Given the description of an element on the screen output the (x, y) to click on. 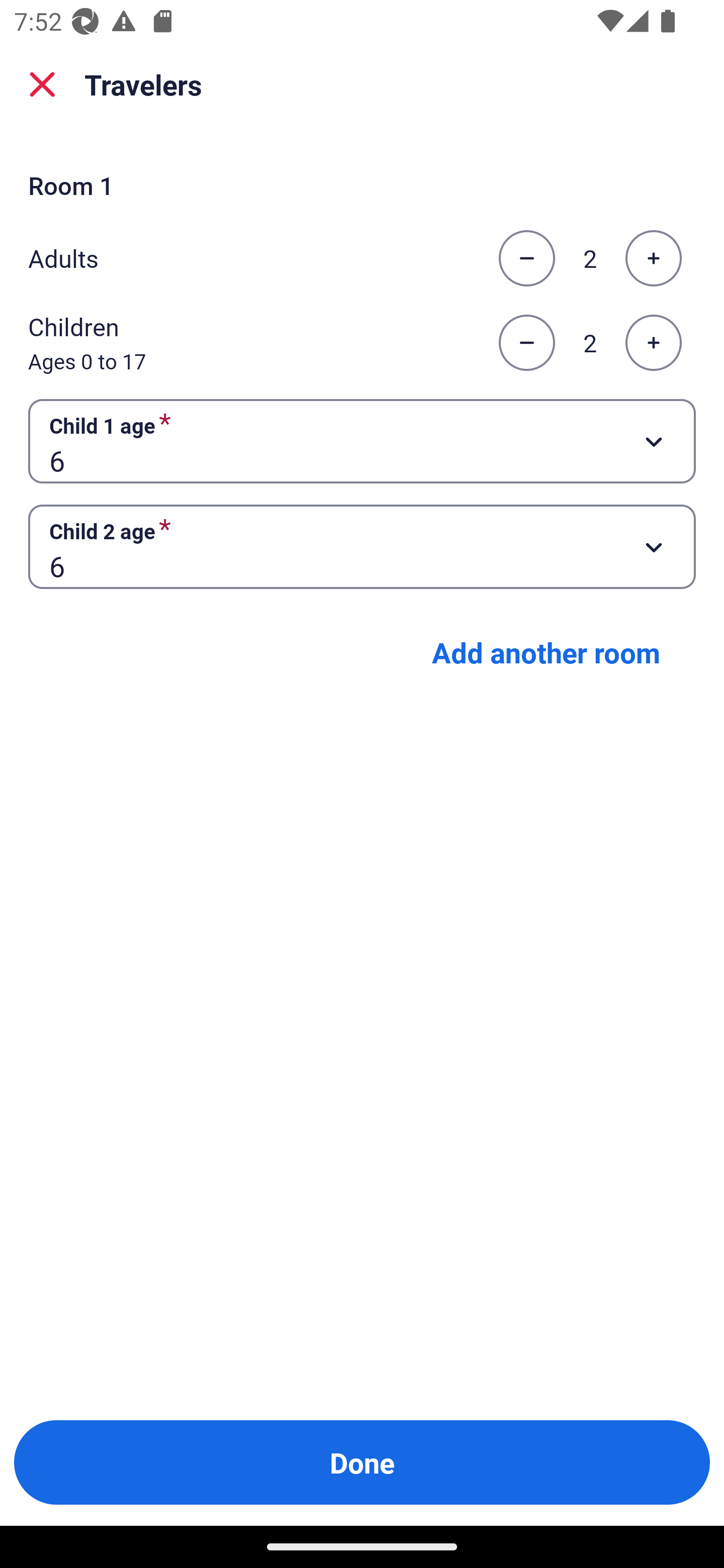
close (42, 84)
Decrease the number of adults (526, 258)
Increase the number of adults (653, 258)
Decrease the number of children (526, 343)
Increase the number of children (653, 343)
Child 1 age required Button 6 (361, 440)
Child 2 age required Button 6 (361, 546)
Add another room (545, 651)
Done (361, 1462)
